Given the description of an element on the screen output the (x, y) to click on. 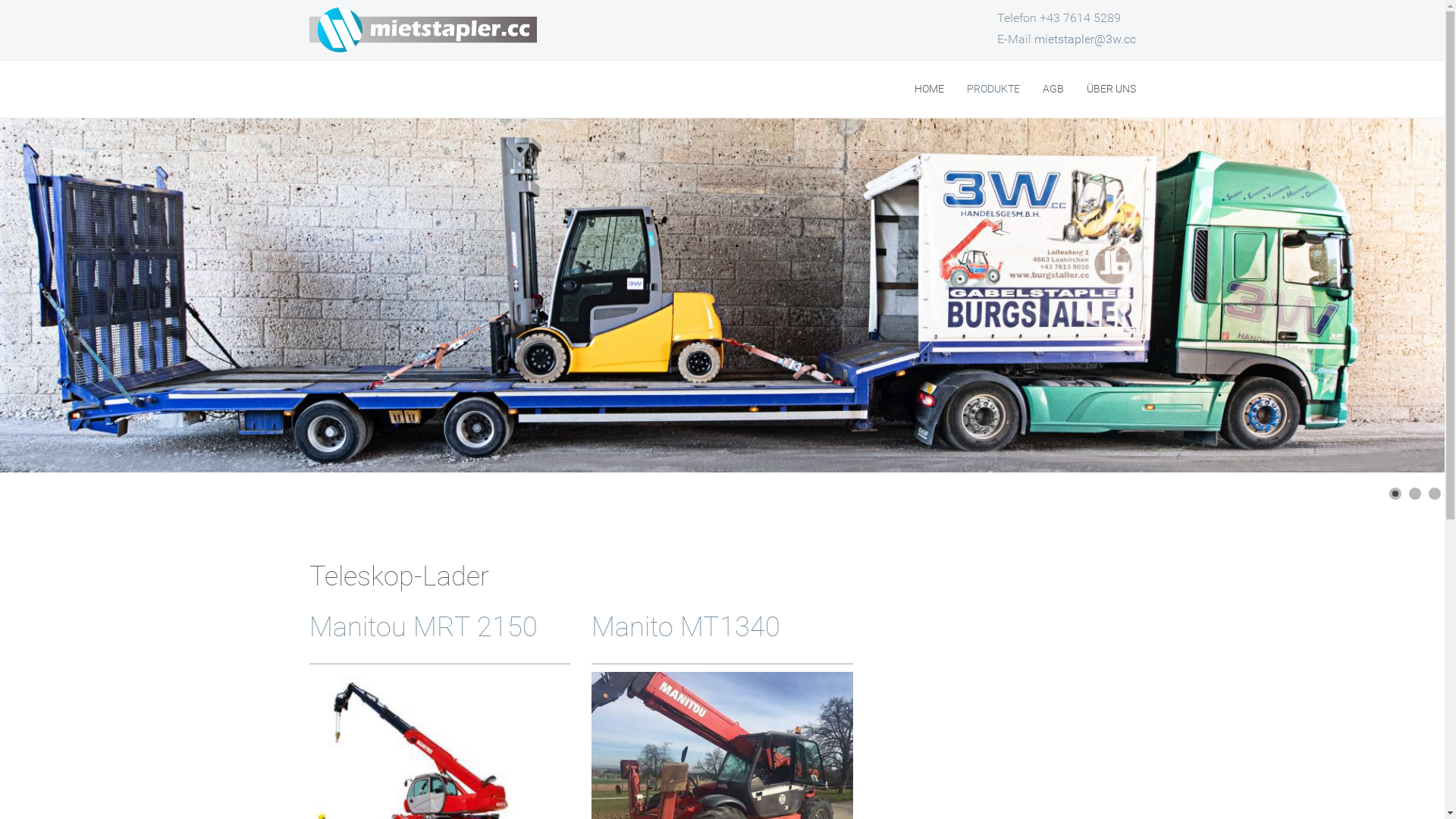
HOME Element type: text (929, 88)
AGB Element type: text (1052, 88)
mietstapler@3w.cc Element type: text (1084, 38)
Manitou MRT 2150 Element type: text (423, 627)
Manito MT1340 Element type: text (685, 627)
PRODUKTE Element type: text (992, 88)
